Given the description of an element on the screen output the (x, y) to click on. 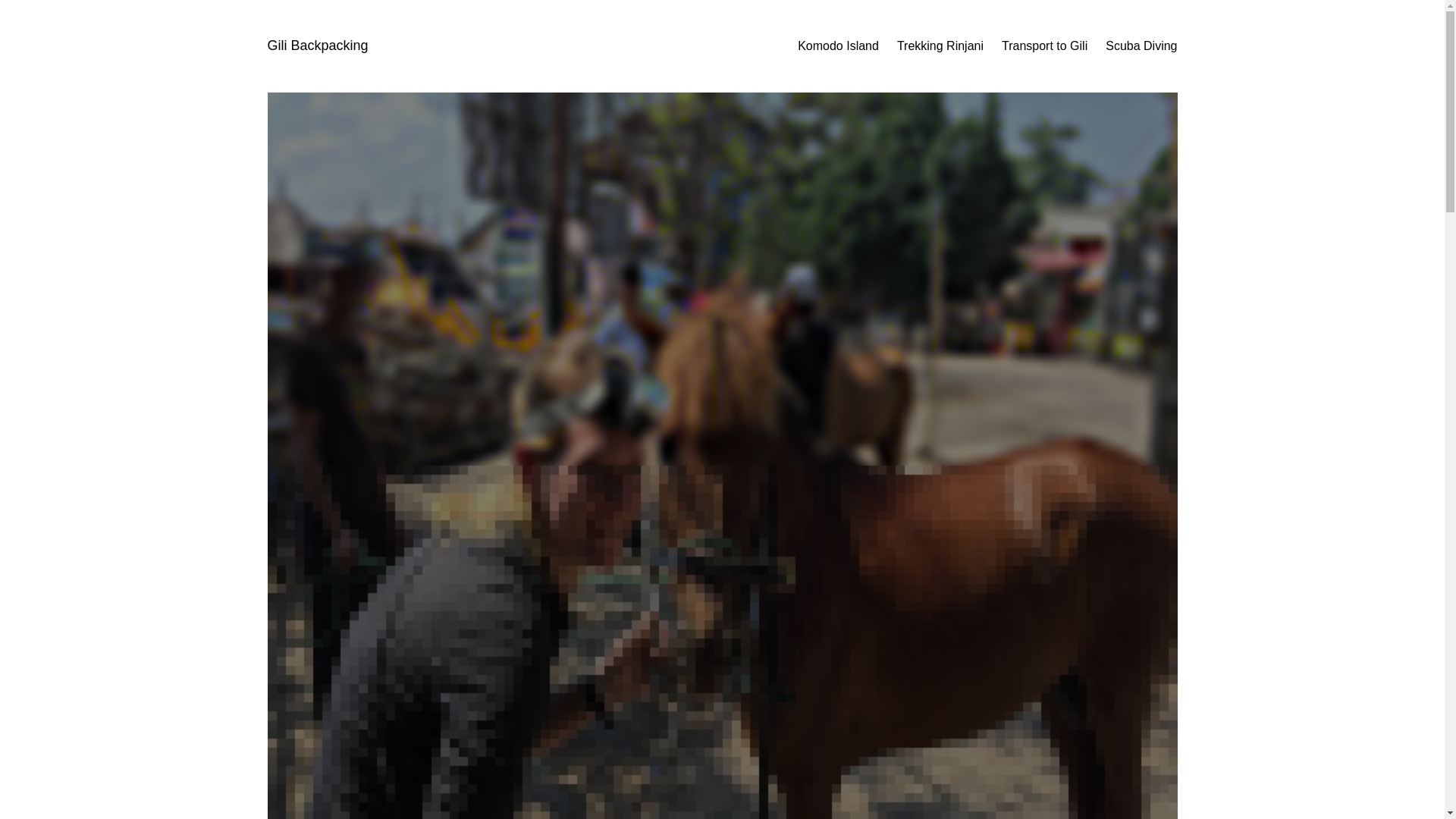
Transport to Gili (1044, 46)
Trekking Rinjani (940, 46)
Gili Backpacking (317, 45)
Komodo Island (838, 46)
Scuba Diving (1140, 46)
